Given the description of an element on the screen output the (x, y) to click on. 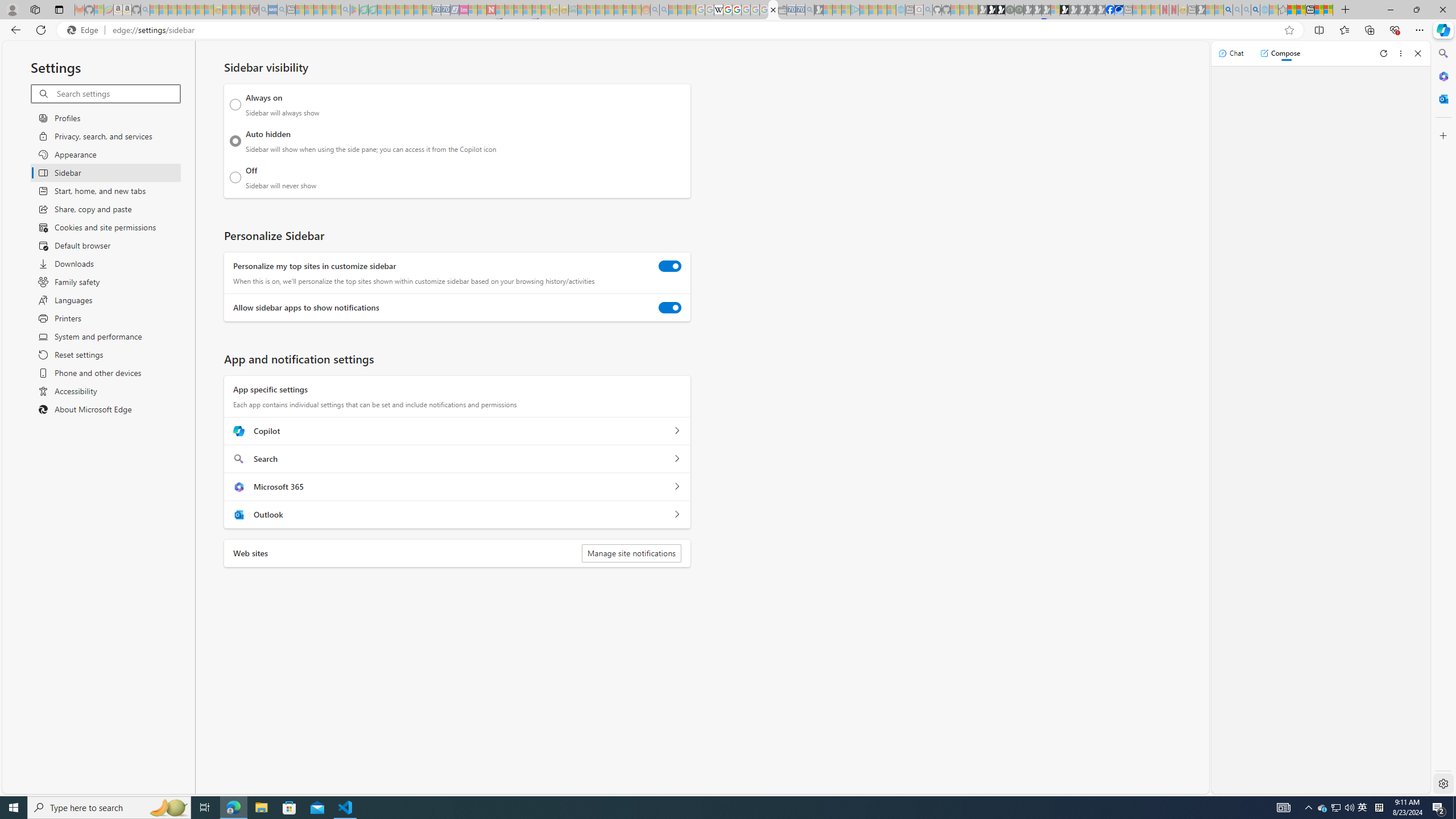
Target page - Wikipedia (718, 9)
Google Chrome Internet Browser Download - Search Images (1255, 9)
Always on Sidebar will always show (235, 104)
